Given the description of an element on the screen output the (x, y) to click on. 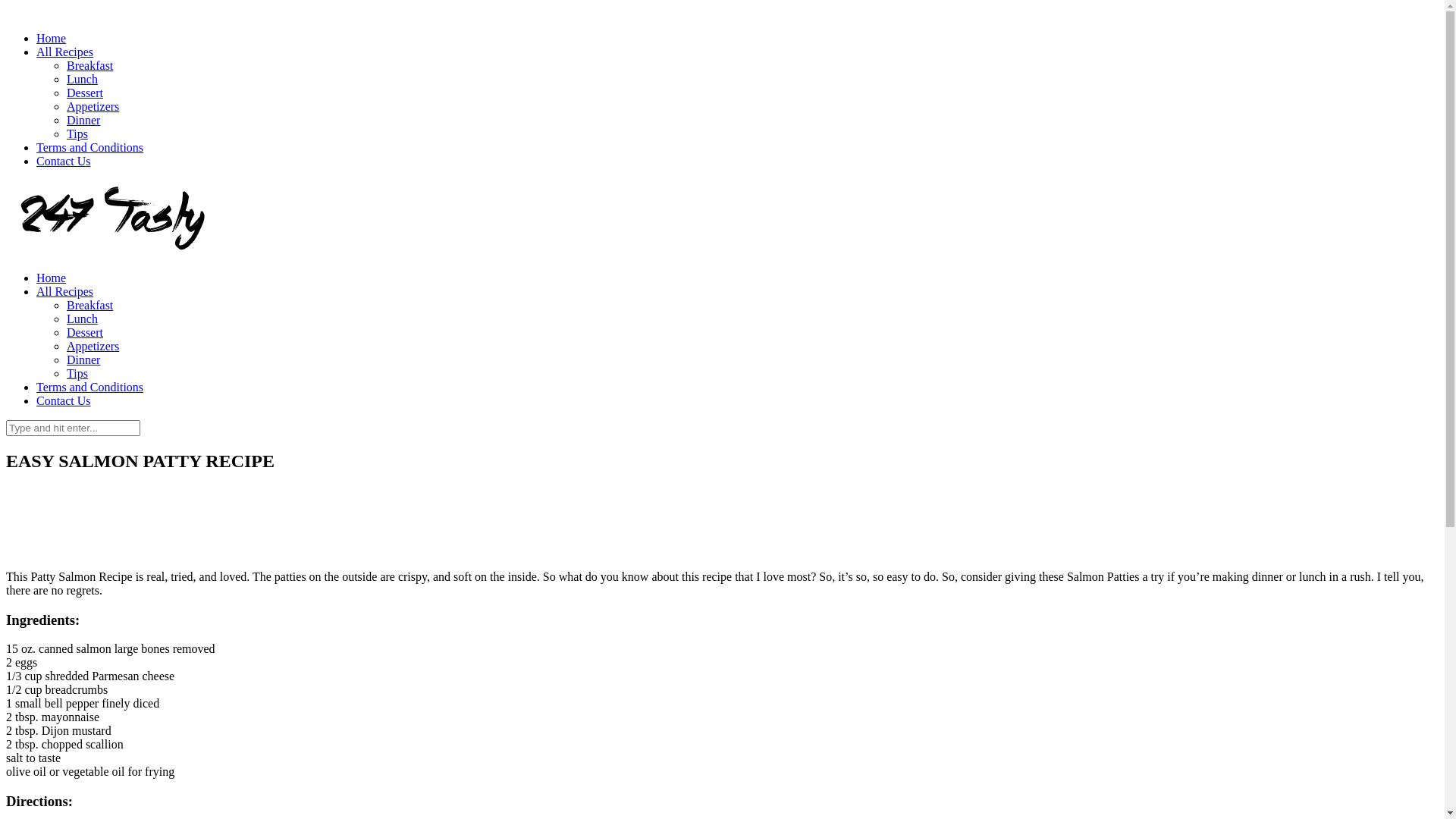
Dessert Element type: text (84, 332)
All Recipes Element type: text (64, 291)
Appetizers Element type: text (92, 106)
Terms and Conditions Element type: text (89, 386)
Home Element type: text (50, 37)
Dessert Element type: text (84, 92)
Tips Element type: text (76, 373)
All Recipes Element type: text (64, 51)
Advertisement Element type: hover (721, 520)
Appetizers Element type: text (92, 345)
Lunch Element type: text (81, 78)
Home Element type: text (50, 277)
Breakfast Element type: text (89, 304)
Contact Us Element type: text (63, 400)
Breakfast Element type: text (89, 65)
Dinner Element type: text (83, 359)
Terms and Conditions Element type: text (89, 147)
Dinner Element type: text (83, 119)
Contact Us Element type: text (63, 160)
Tips Element type: text (76, 133)
Lunch Element type: text (81, 318)
